Given the description of an element on the screen output the (x, y) to click on. 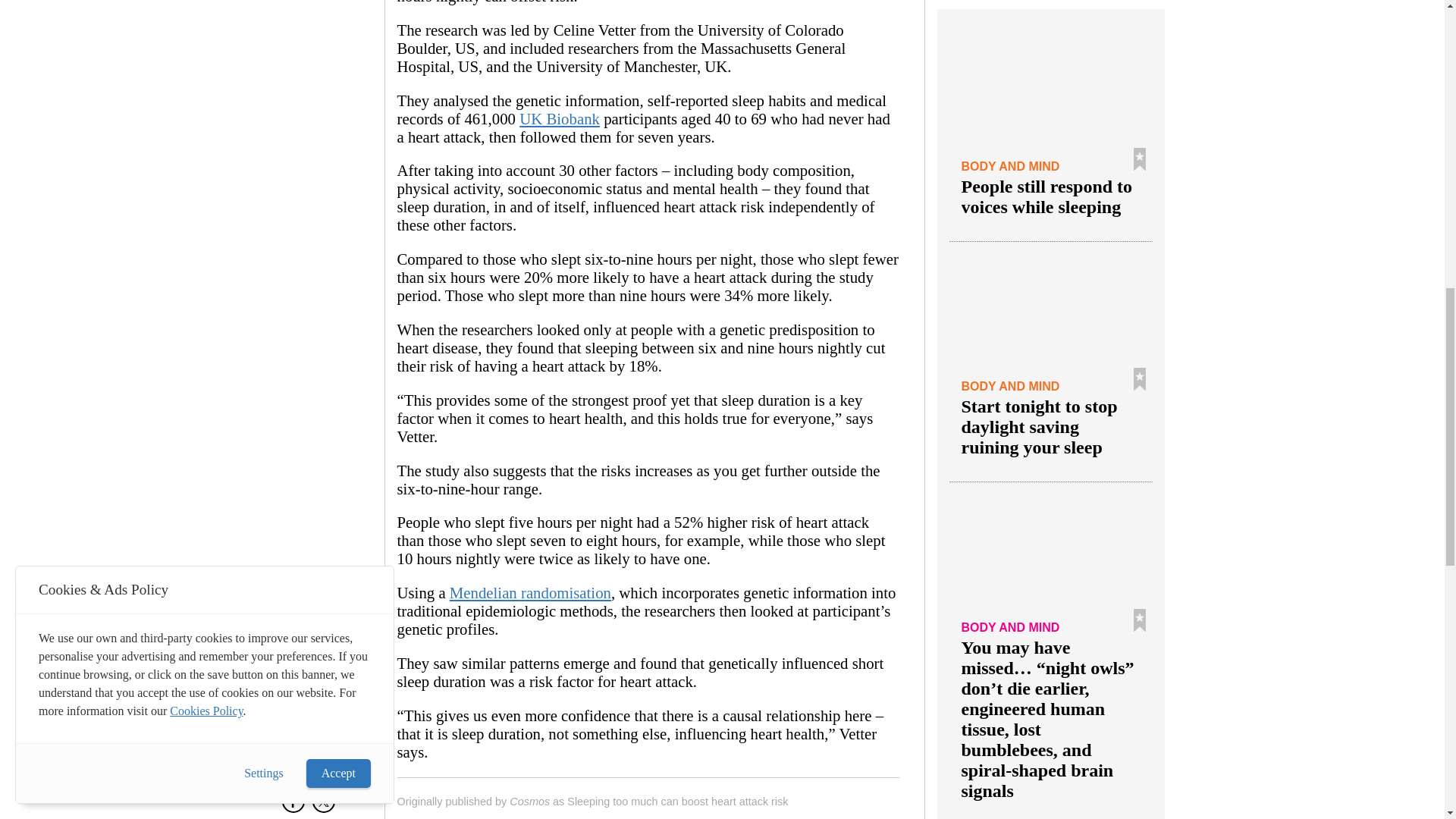
Sleeping too much can boost heart attack risk (677, 801)
Tweet (323, 806)
Share on Facebook (293, 806)
UK Biobank (559, 118)
